Given the description of an element on the screen output the (x, y) to click on. 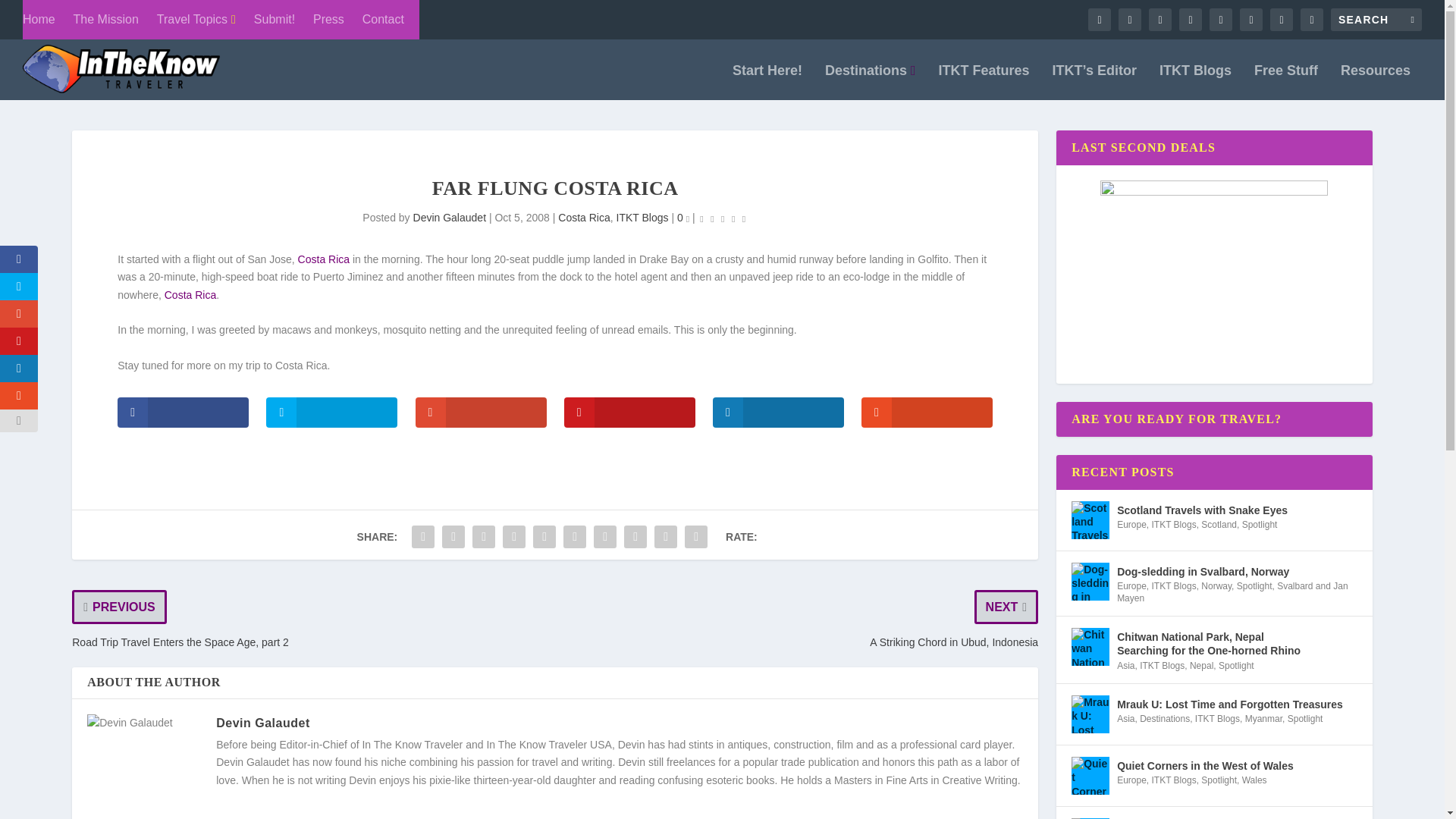
The Mission (106, 19)
Submit! (274, 19)
Share "Far Flung Costa Rica" via LinkedIn (574, 536)
Travel Topics (196, 19)
Rating: 0.00 (722, 218)
Contact (383, 19)
Search for: (1376, 19)
Share "Far Flung Costa Rica" via Twitter (453, 536)
Share "Far Flung Costa Rica" via Tumblr (514, 536)
Share "Far Flung Costa Rica" via Stumbleupon (635, 536)
